Given the description of an element on the screen output the (x, y) to click on. 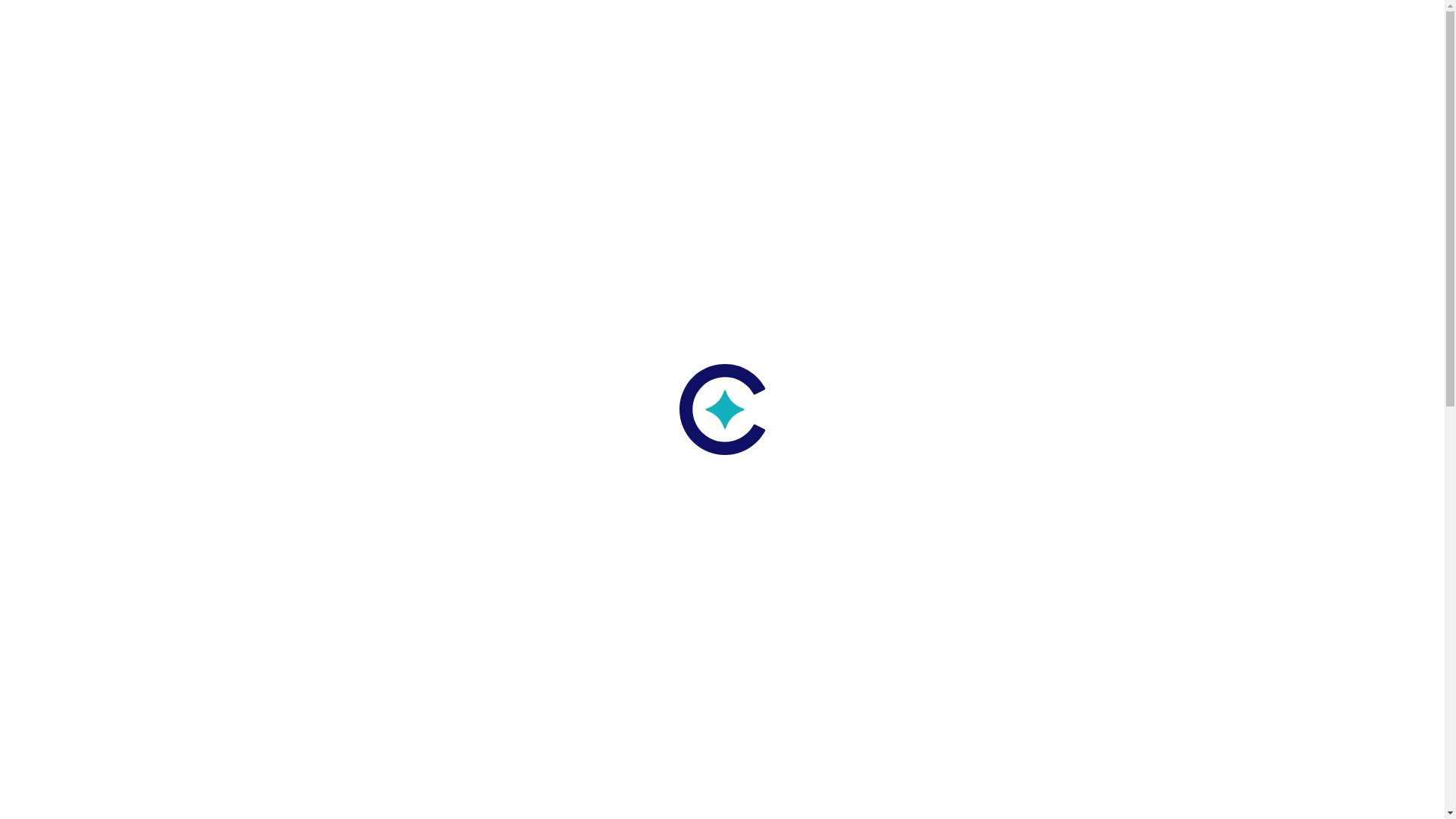
+380 50 064-37-43 Element type: text (842, 35)
